Given the description of an element on the screen output the (x, y) to click on. 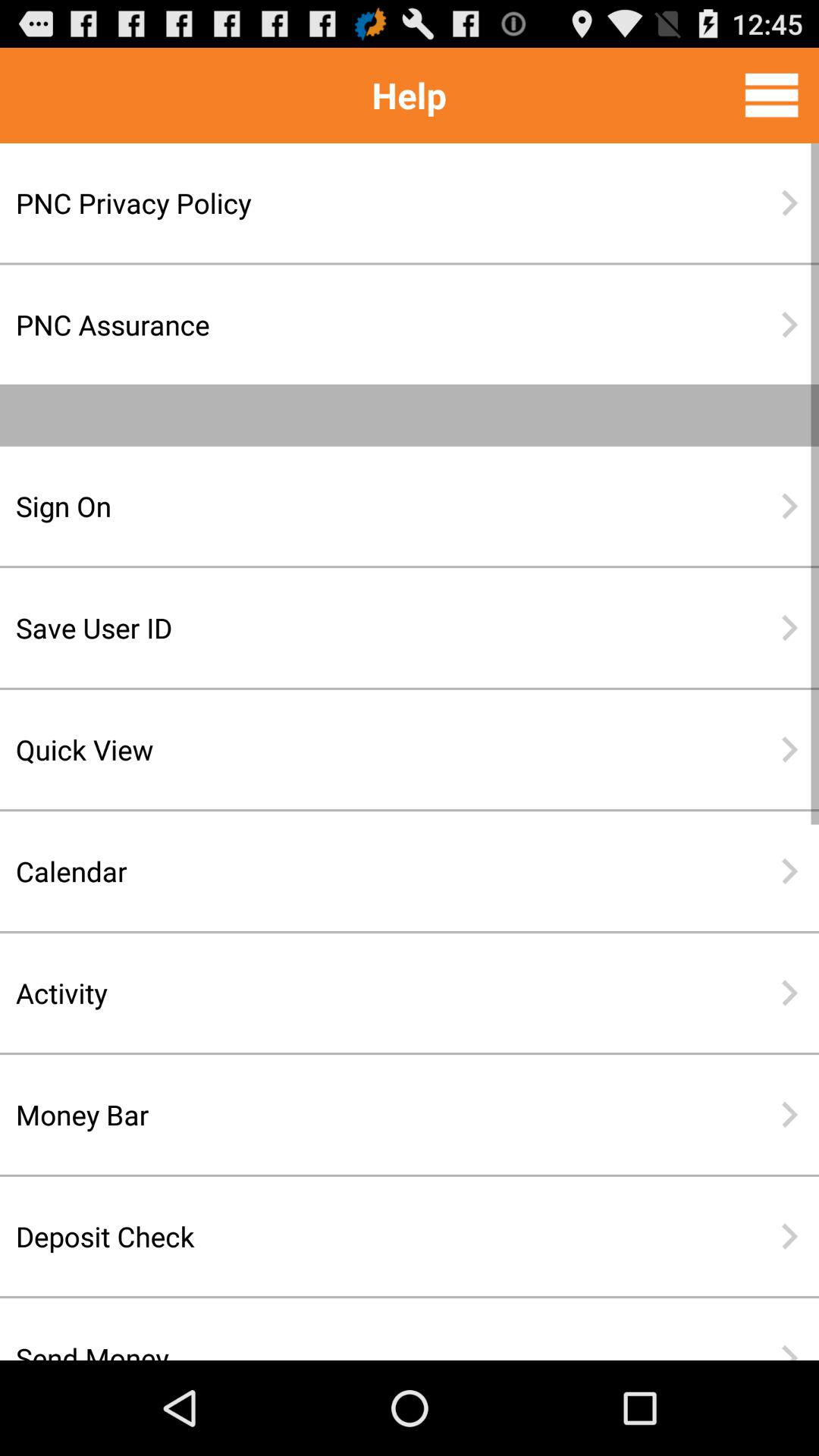
click the icon above quick view (359, 627)
